Given the description of an element on the screen output the (x, y) to click on. 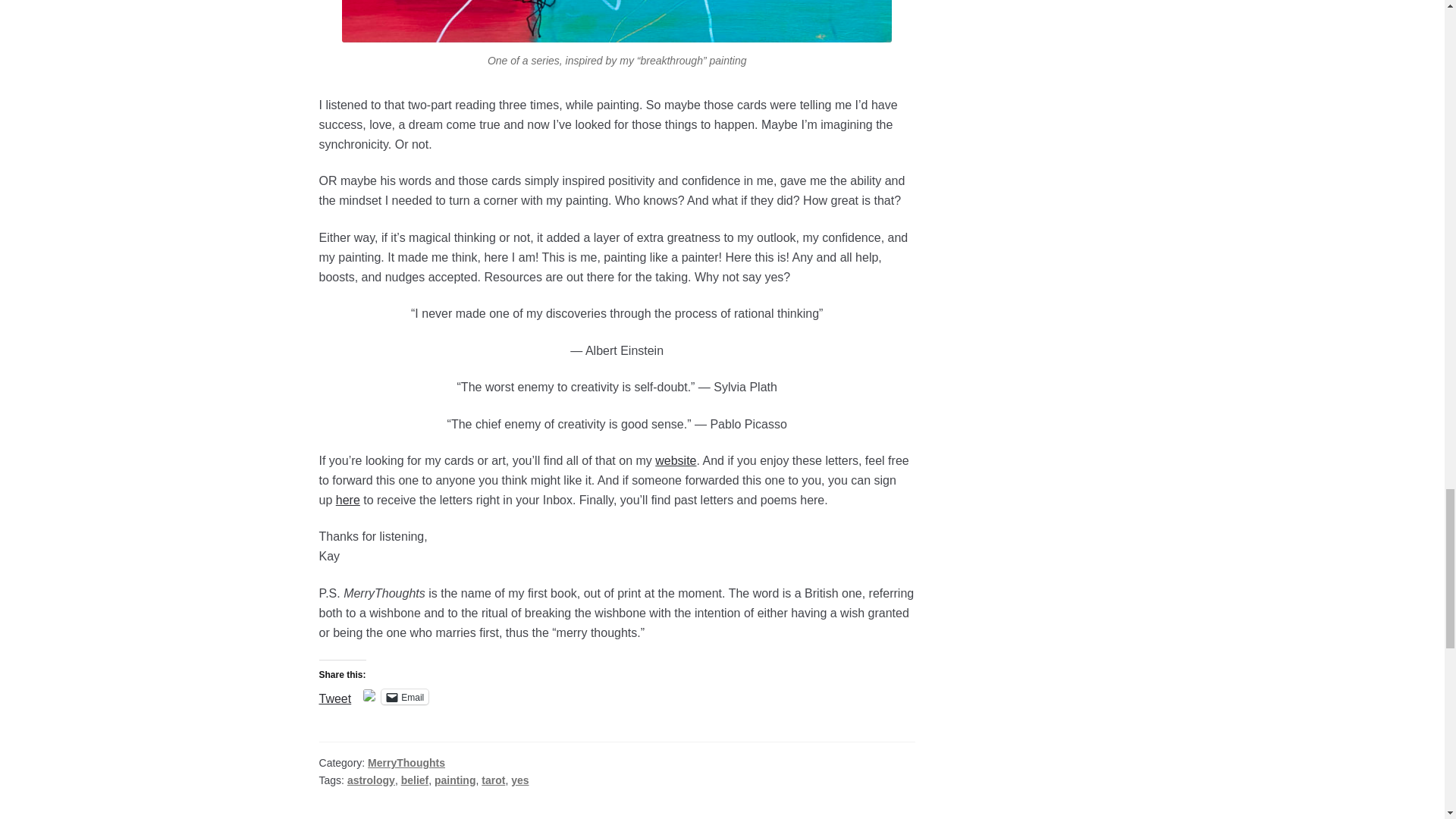
yes (519, 779)
Tweet (335, 695)
painting (454, 779)
Click to email a link to a friend (404, 696)
here (347, 499)
MerryThoughts (406, 762)
astrology (370, 779)
tarot (493, 779)
Email (404, 696)
website (675, 460)
